Given the description of an element on the screen output the (x, y) to click on. 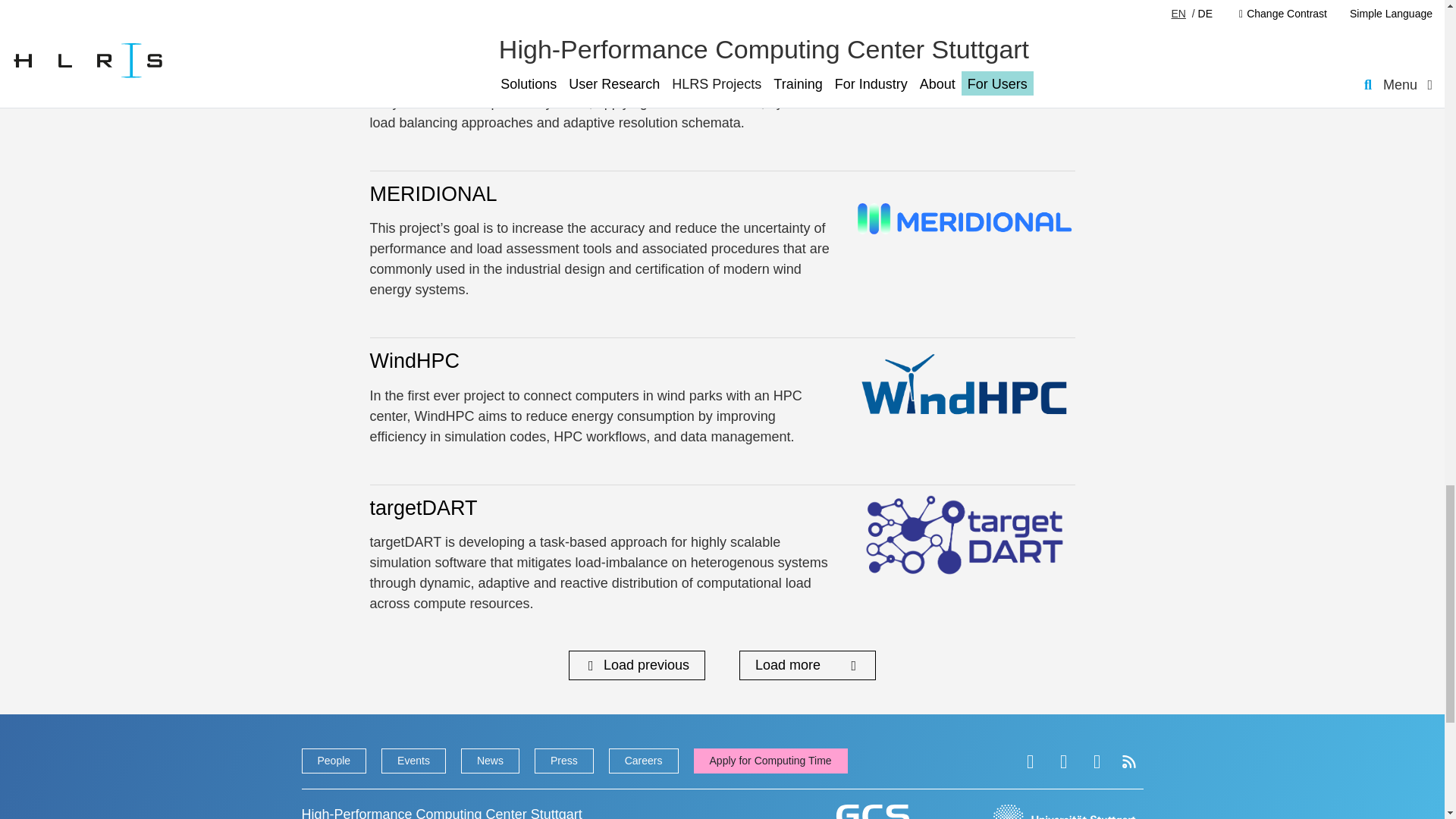
MERIDIONAL (433, 193)
3xa (386, 47)
